Given the description of an element on the screen output the (x, y) to click on. 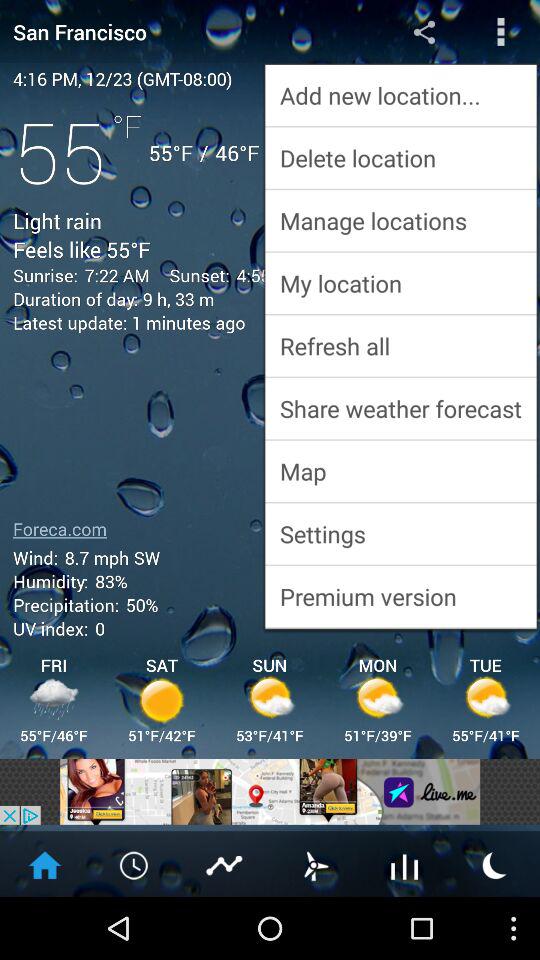
launch the refresh all item (400, 345)
